Given the description of an element on the screen output the (x, y) to click on. 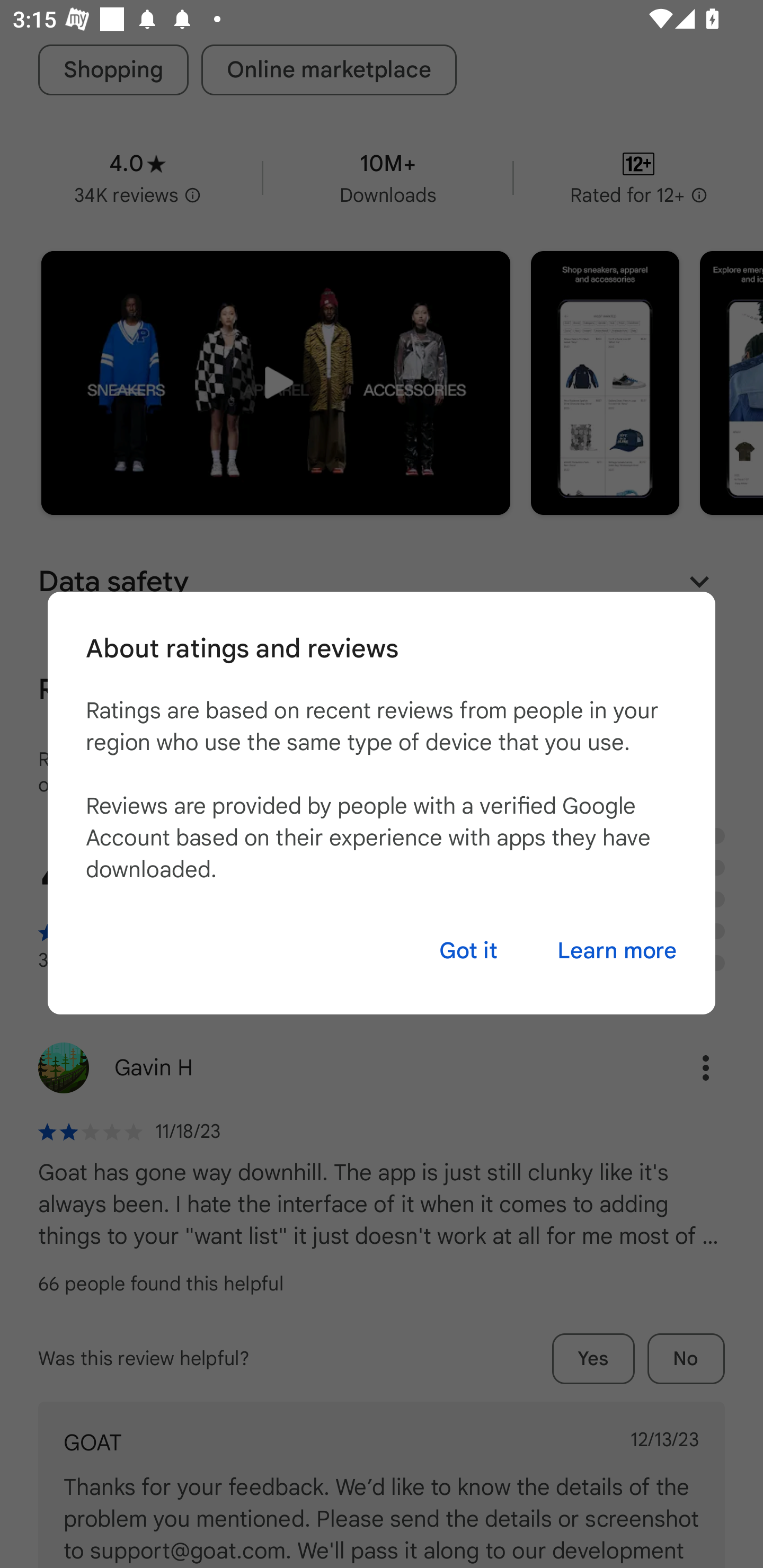
Got it (468, 950)
Learn more (617, 950)
